Given the description of an element on the screen output the (x, y) to click on. 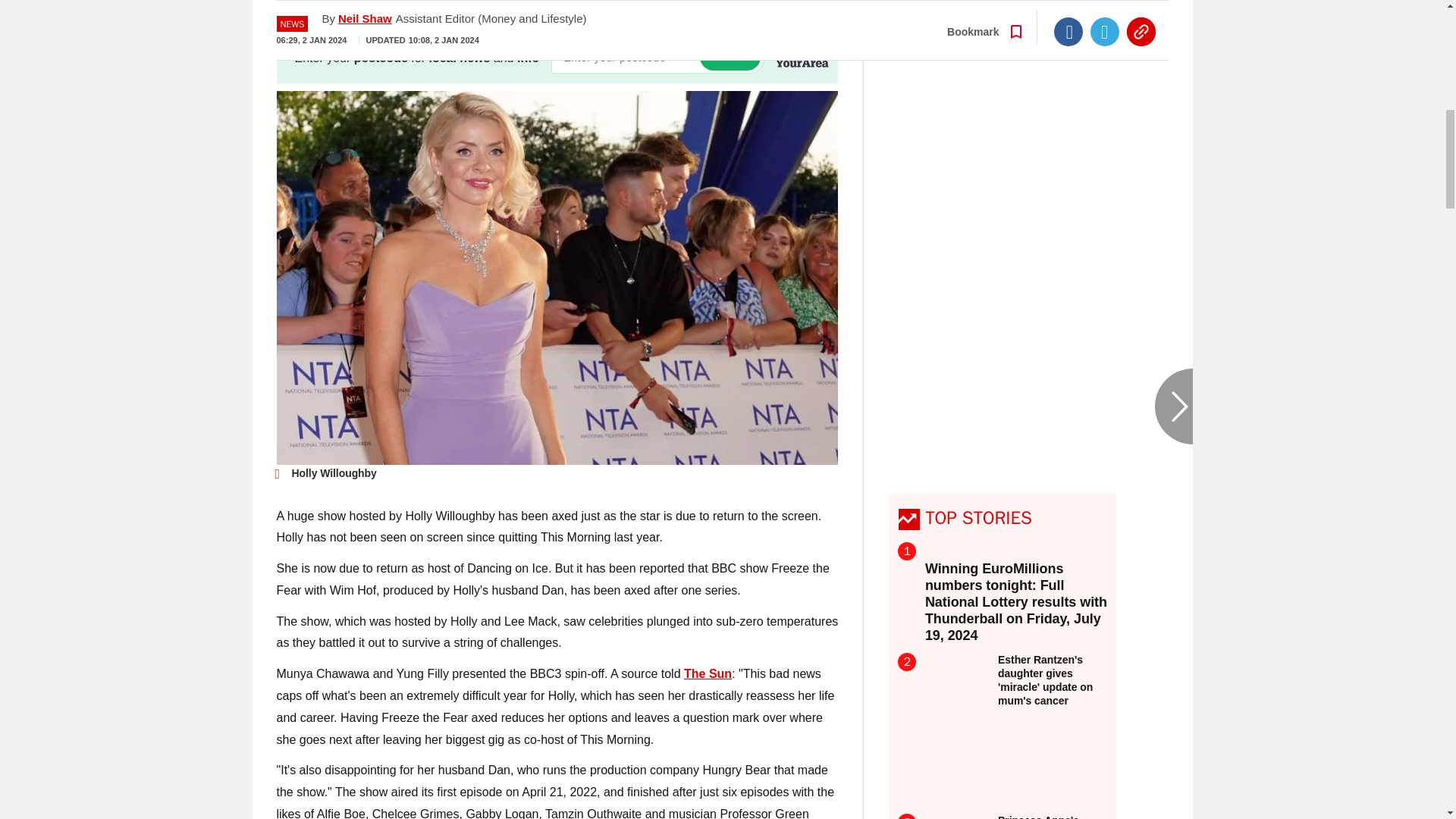
Go (730, 57)
